Given the description of an element on the screen output the (x, y) to click on. 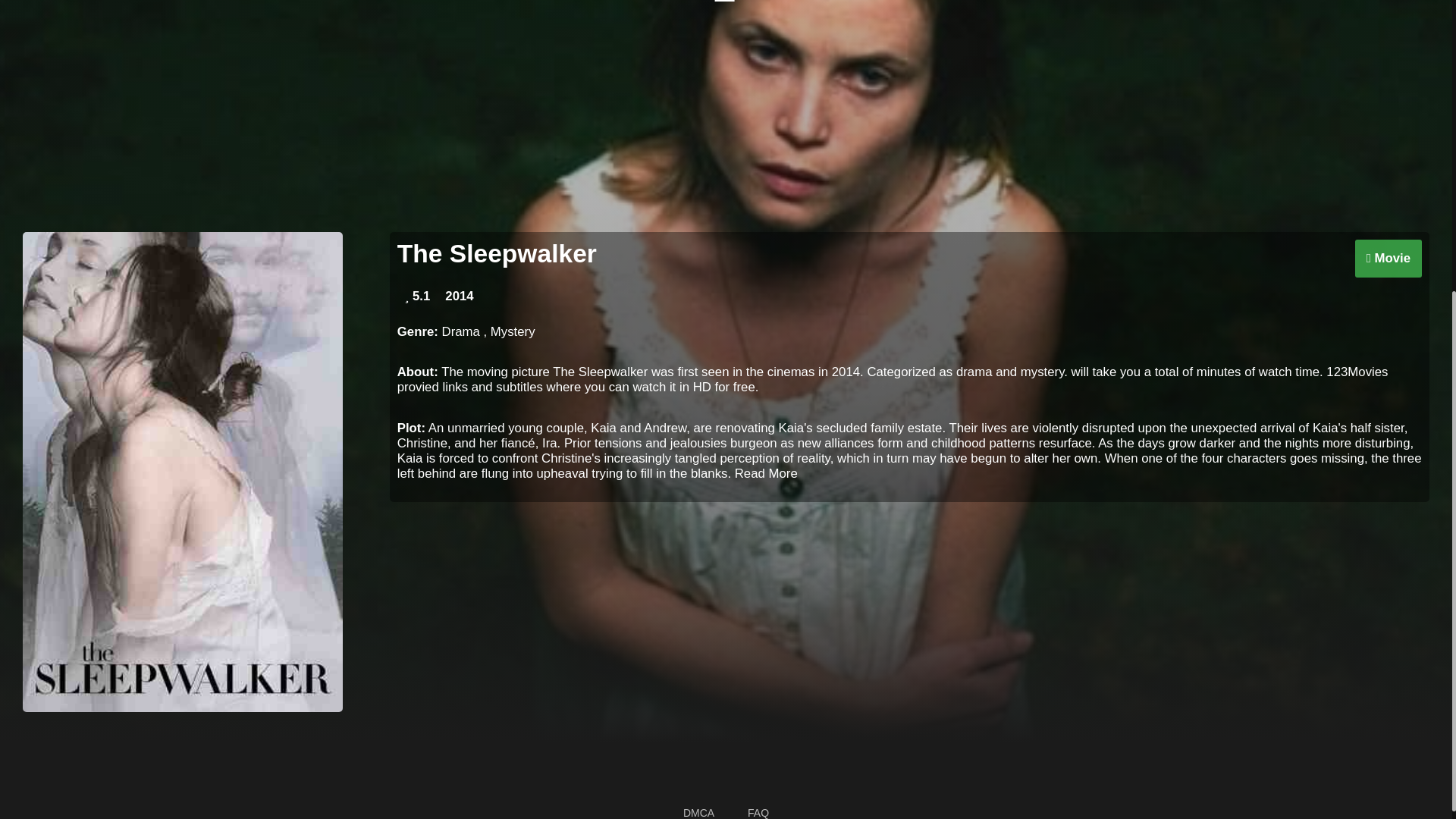
Rating (417, 296)
Read More (766, 473)
Release date (459, 296)
